Given the description of an element on the screen output the (x, y) to click on. 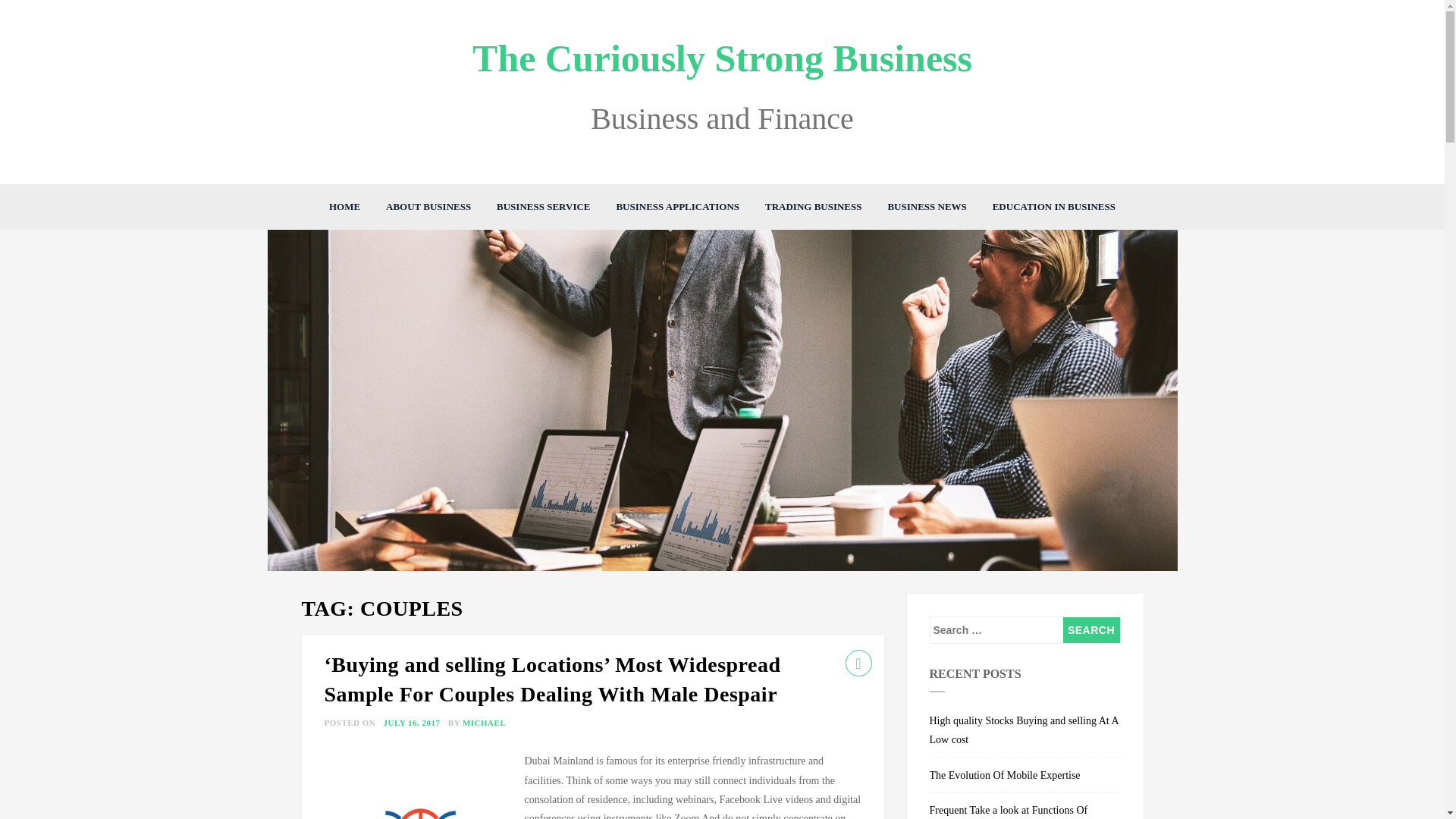
Search (1090, 629)
TRADING BUSINESS (813, 207)
EDUCATION IN BUSINESS (1053, 207)
HOME (344, 207)
Search (1090, 629)
BUSINESS APPLICATIONS (677, 207)
MICHAEL (484, 722)
BUSINESS SERVICE (542, 207)
The Curiously Strong Business (721, 57)
Search (1090, 629)
JULY 16, 2017 (412, 722)
BUSINESS NEWS (926, 207)
The Evolution Of Mobile Expertise (1025, 775)
ABOUT BUSINESS (427, 207)
